Given the description of an element on the screen output the (x, y) to click on. 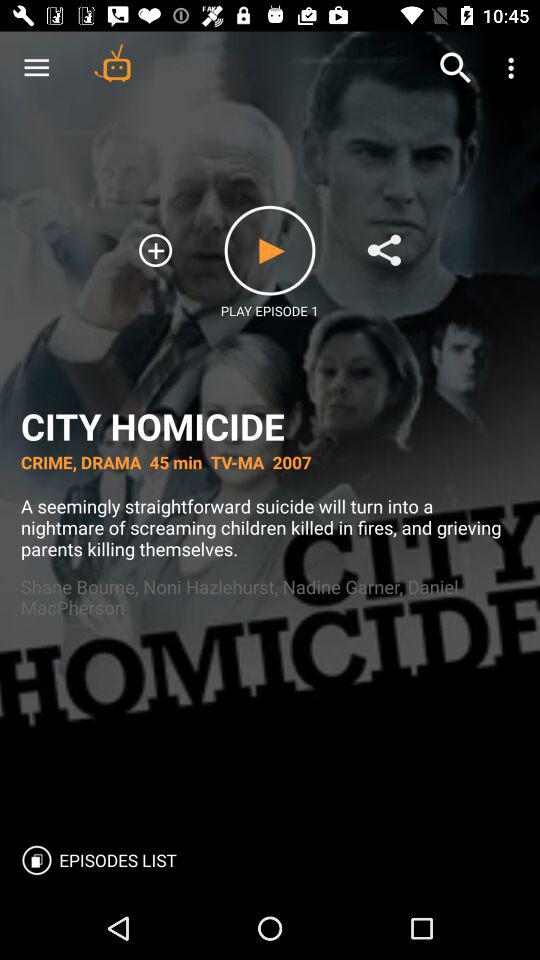
tap the item above city homicide (36, 68)
